Given the description of an element on the screen output the (x, y) to click on. 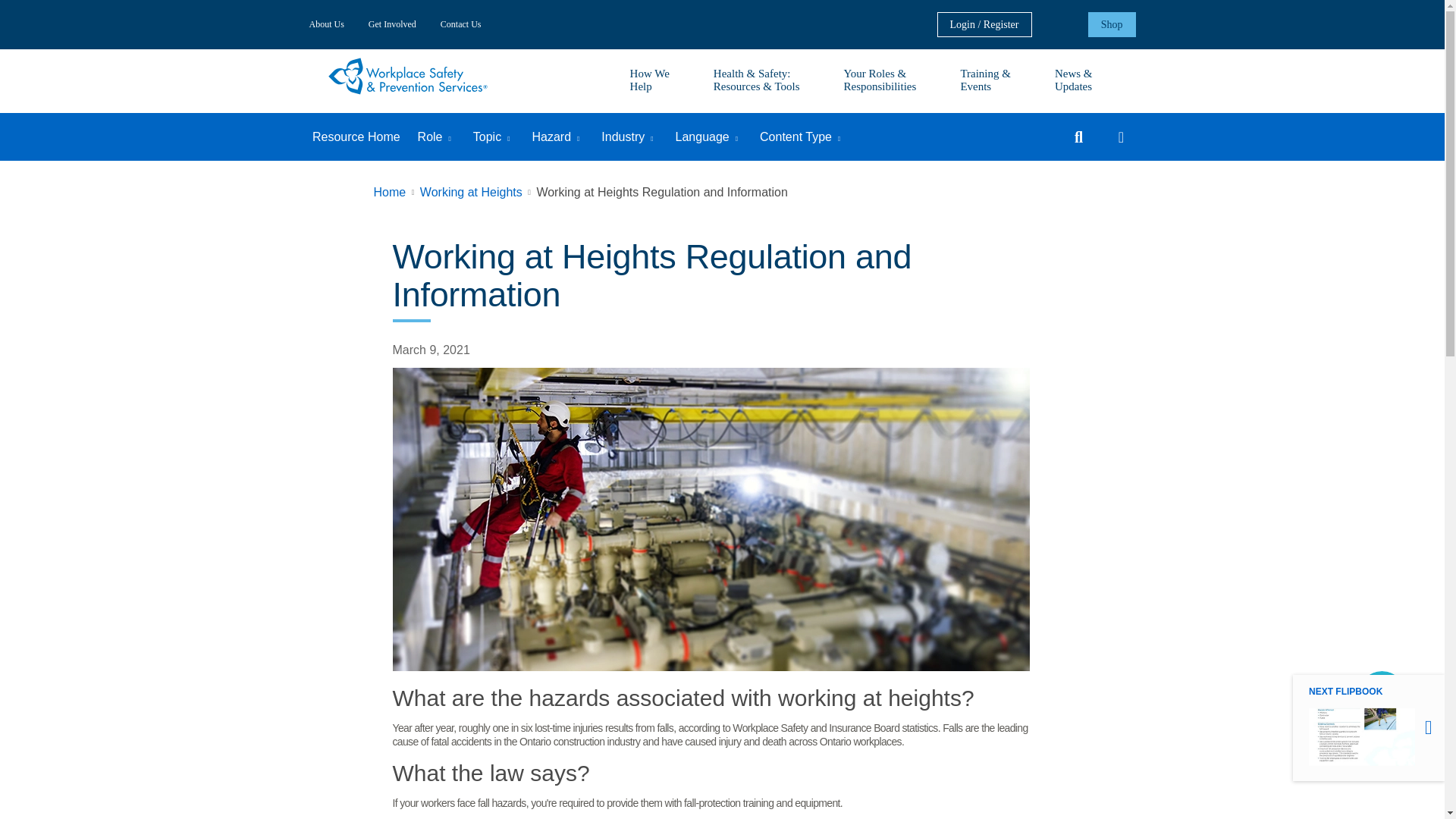
Published Date (431, 350)
Open Search Box (1077, 135)
Shop (1111, 24)
About Us (332, 24)
Contact Us (460, 24)
Get Involved (392, 24)
Share this Post (1120, 135)
